Given the description of an element on the screen output the (x, y) to click on. 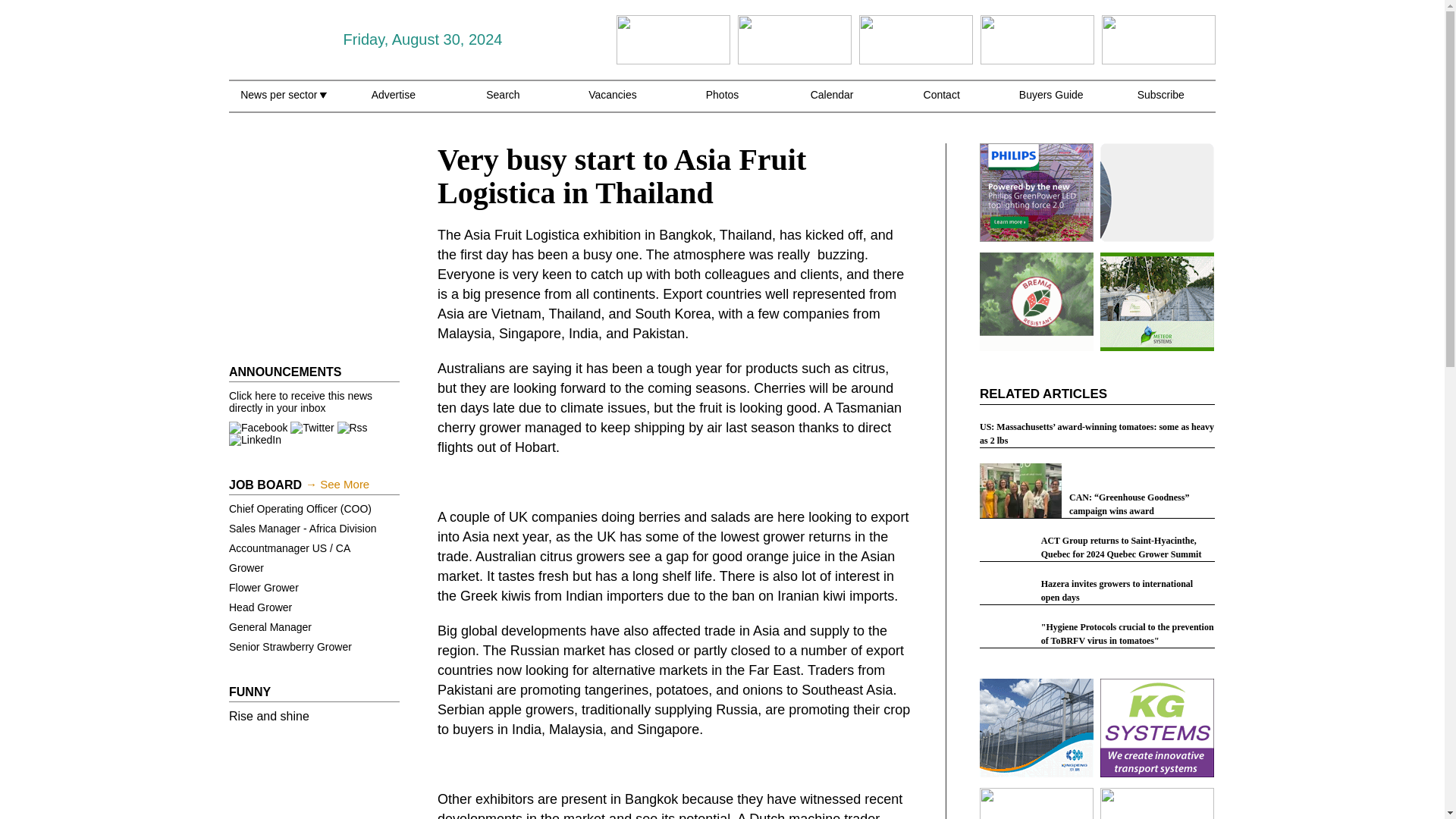
Advertise (392, 103)
Search (502, 103)
News per sector (283, 103)
